Given the description of an element on the screen output the (x, y) to click on. 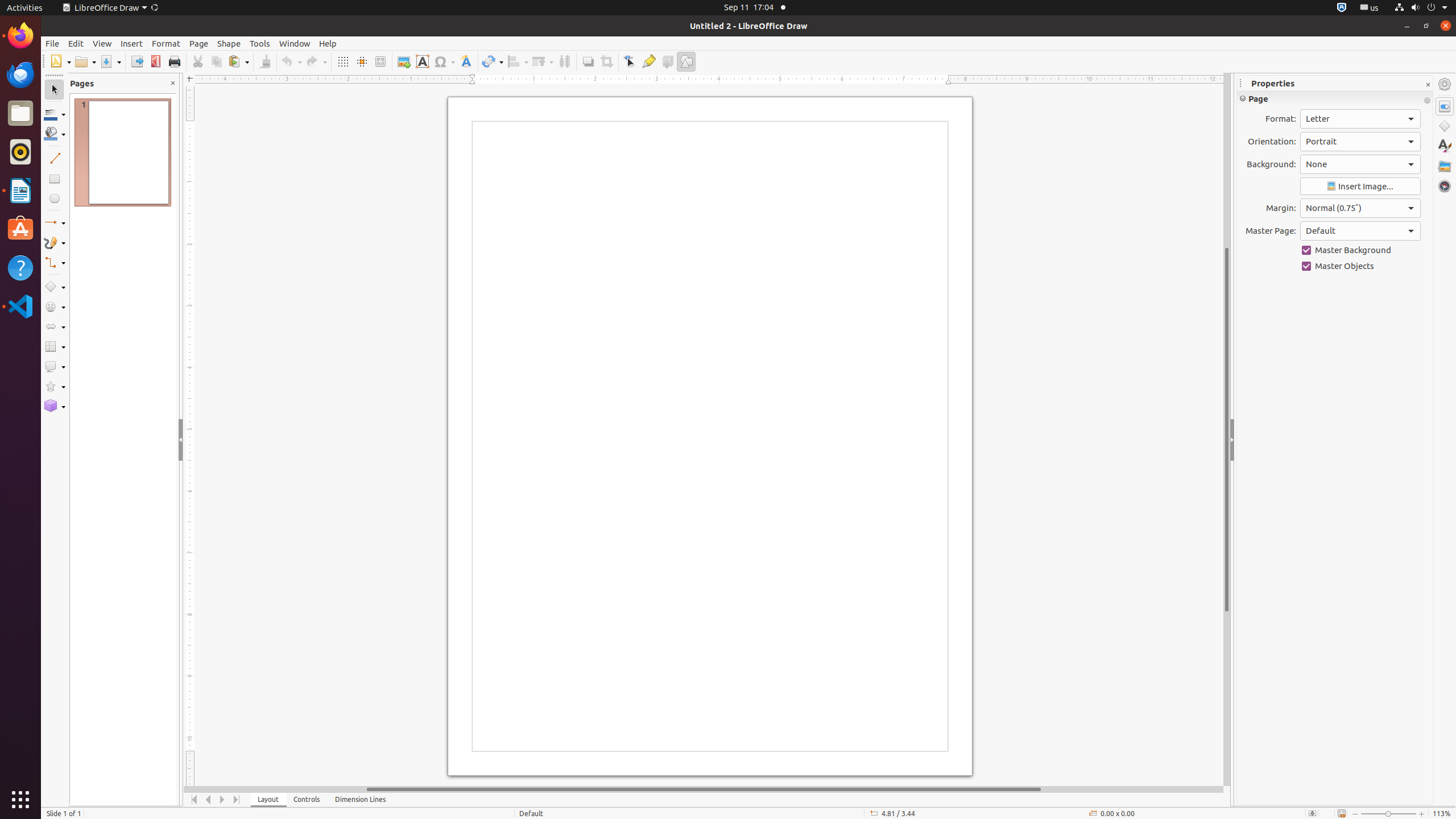
Shapes Element type: radio-button (1444, 126)
Redo Element type: push-button (315, 61)
Curves and Polygons Element type: push-button (54, 242)
3D Objects Element type: push-button (54, 406)
